Given the description of an element on the screen output the (x, y) to click on. 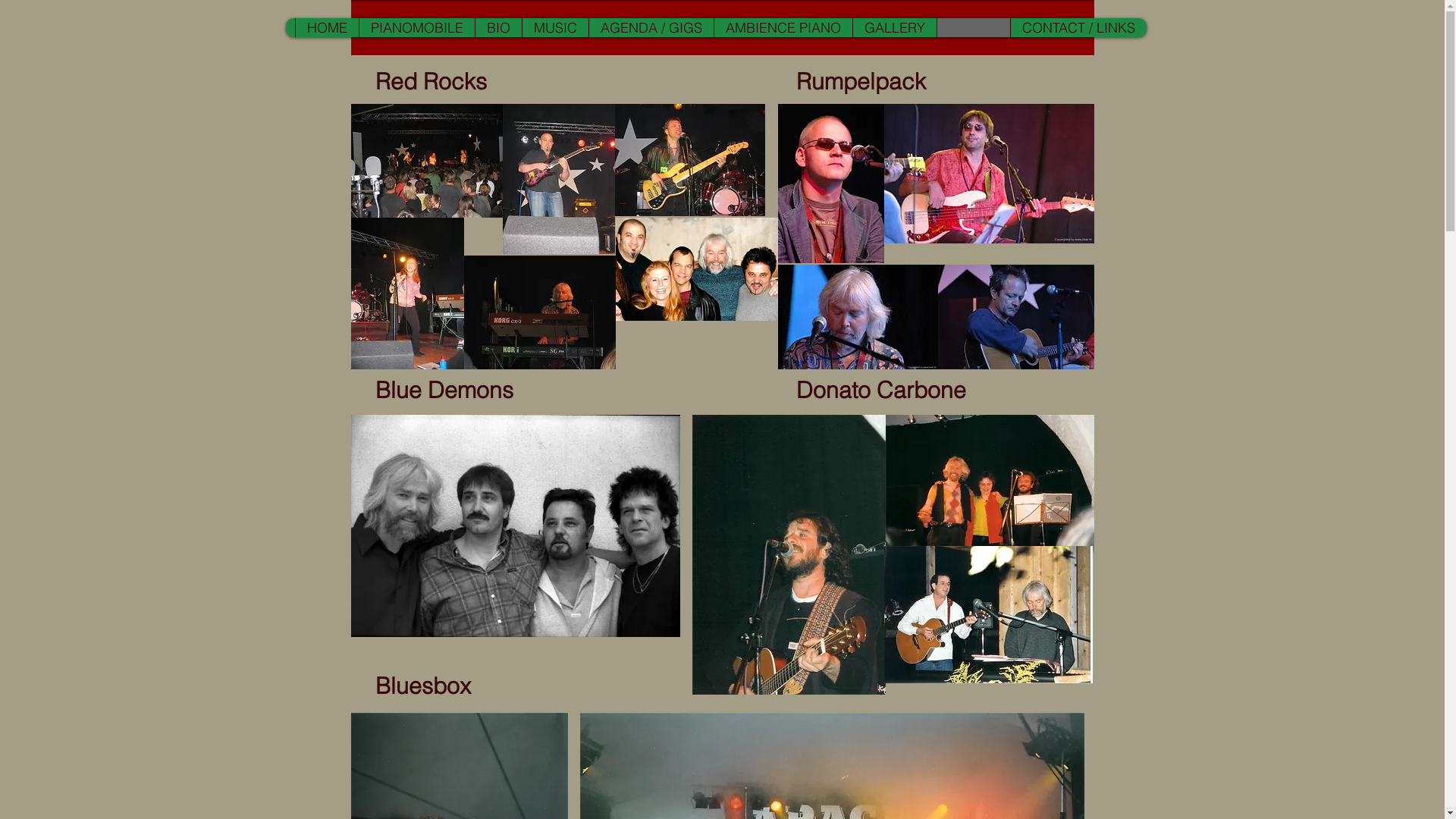
fotos3a.jpg Element type: hover (858, 316)
GALLERY Element type: text (894, 27)
archiv4e.jpg Element type: hover (787, 554)
AGENDA / GIGS Element type: text (650, 27)
HOME Element type: text (325, 27)
PIANOMOBILE Element type: text (415, 27)
CONTACT / LINKS Element type: text (1078, 27)
foto4i.JPG Element type: hover (558, 178)
BIO Element type: text (497, 27)
archiv4c.jpg Element type: hover (989, 483)
fotos3f.jpg Element type: hover (831, 183)
foto4h.JPG Element type: hover (689, 159)
foto4e.JPG Element type: hover (539, 312)
ARCHIV Element type: text (972, 27)
archiv4a.jpg Element type: hover (988, 614)
MUSIC Element type: text (554, 27)
foto4g.JPG Element type: hover (406, 293)
image001.jpg Element type: hover (696, 268)
Blue Demons 16.jpg Element type: hover (514, 525)
AMBIENCE PIANO Element type: text (781, 27)
foto4m.JPG Element type: hover (426, 160)
fotos3e.jpg Element type: hover (1015, 316)
fotos3d.jpg Element type: hover (989, 173)
